Given the description of an element on the screen output the (x, y) to click on. 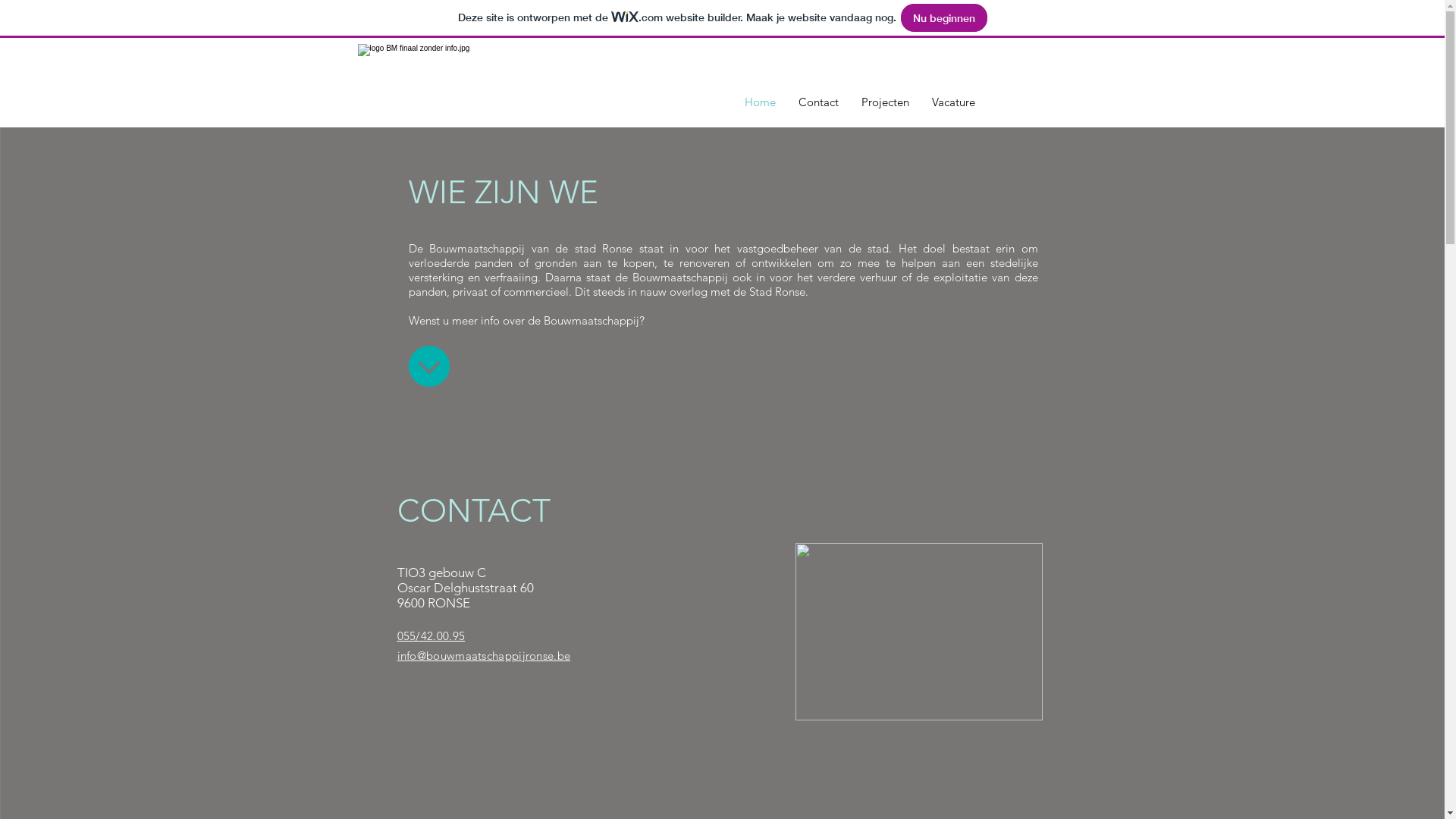
Projecten Element type: text (884, 102)
logo BM finaal zonder info.png Element type: hover (497, 82)
055/42.00.95 Element type: text (431, 635)
info@bouwmaatschappijronse.be Element type: text (484, 654)
Vacature Element type: text (953, 102)
Home Element type: text (759, 102)
Contact Element type: text (818, 102)
